Given the description of an element on the screen output the (x, y) to click on. 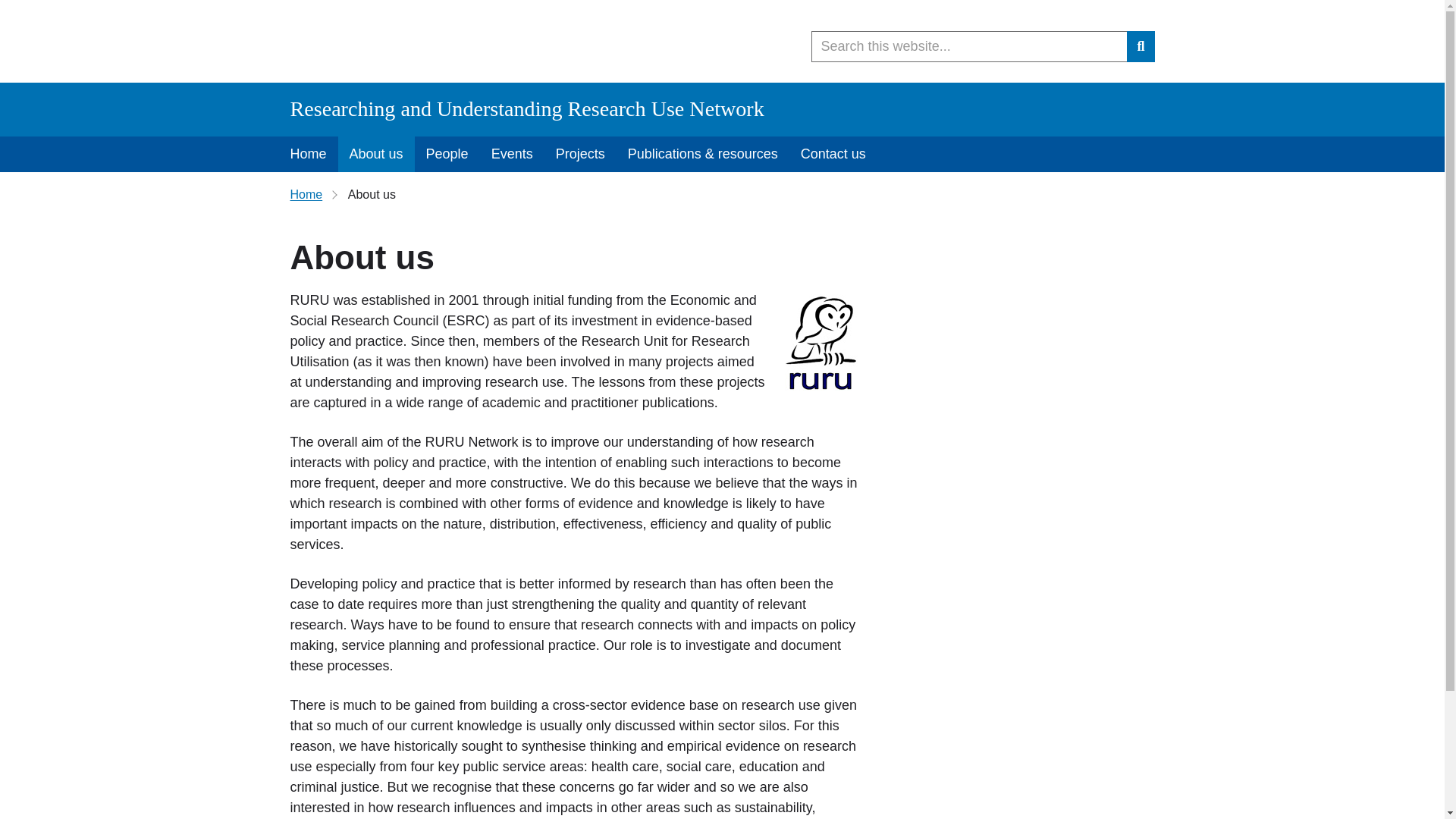
Home (305, 194)
Home (308, 153)
Contact us (833, 153)
Researching and Understanding Research Use Network (525, 108)
Projects (579, 153)
About us (375, 153)
People (447, 153)
Events (512, 153)
